Given the description of an element on the screen output the (x, y) to click on. 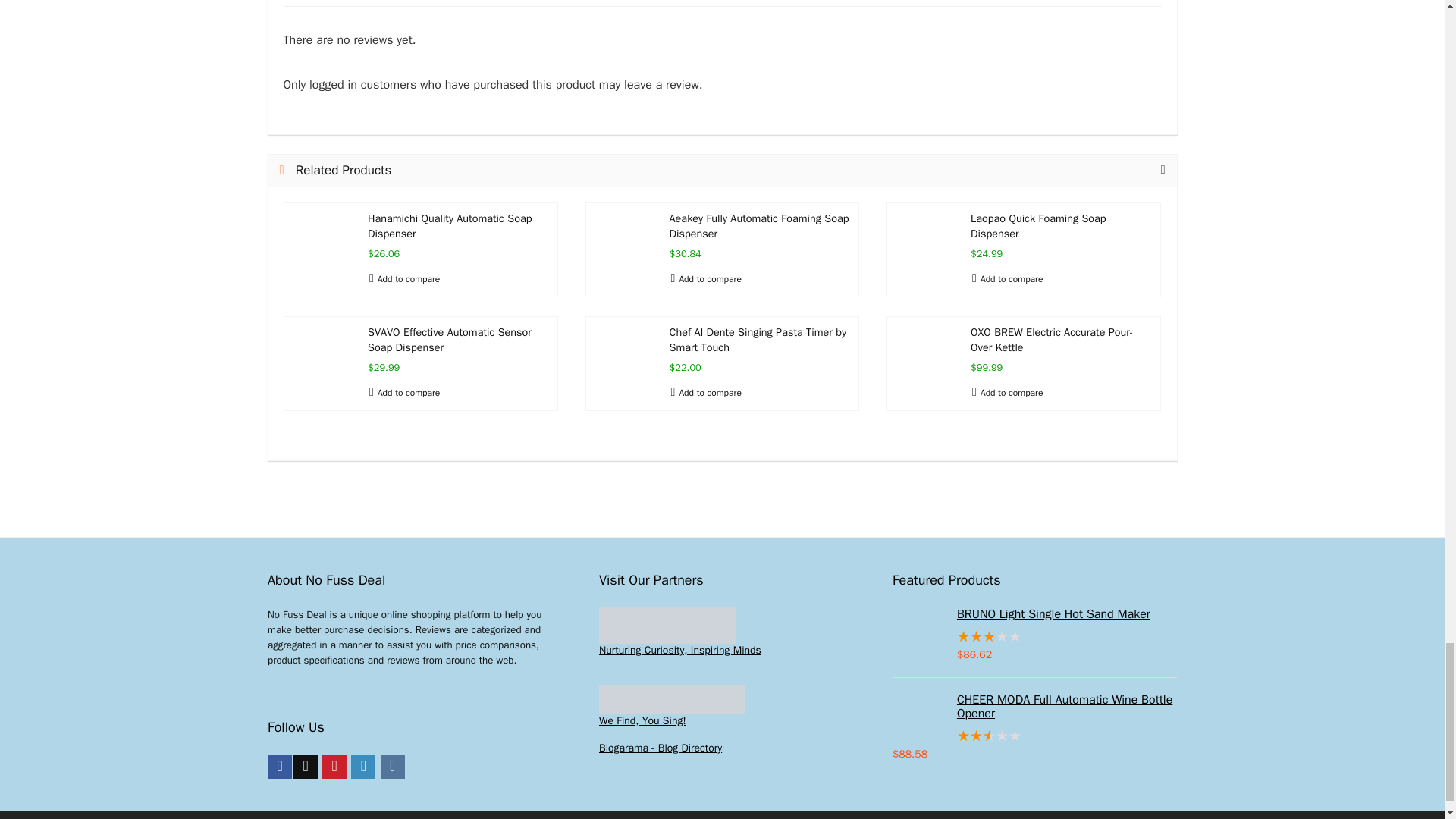
Blogarama.com - Follow me on Blogarama (660, 748)
Rated 3.08 out of 5 (1034, 636)
Rated 2.6 out of 5 (1034, 735)
